Given the description of an element on the screen output the (x, y) to click on. 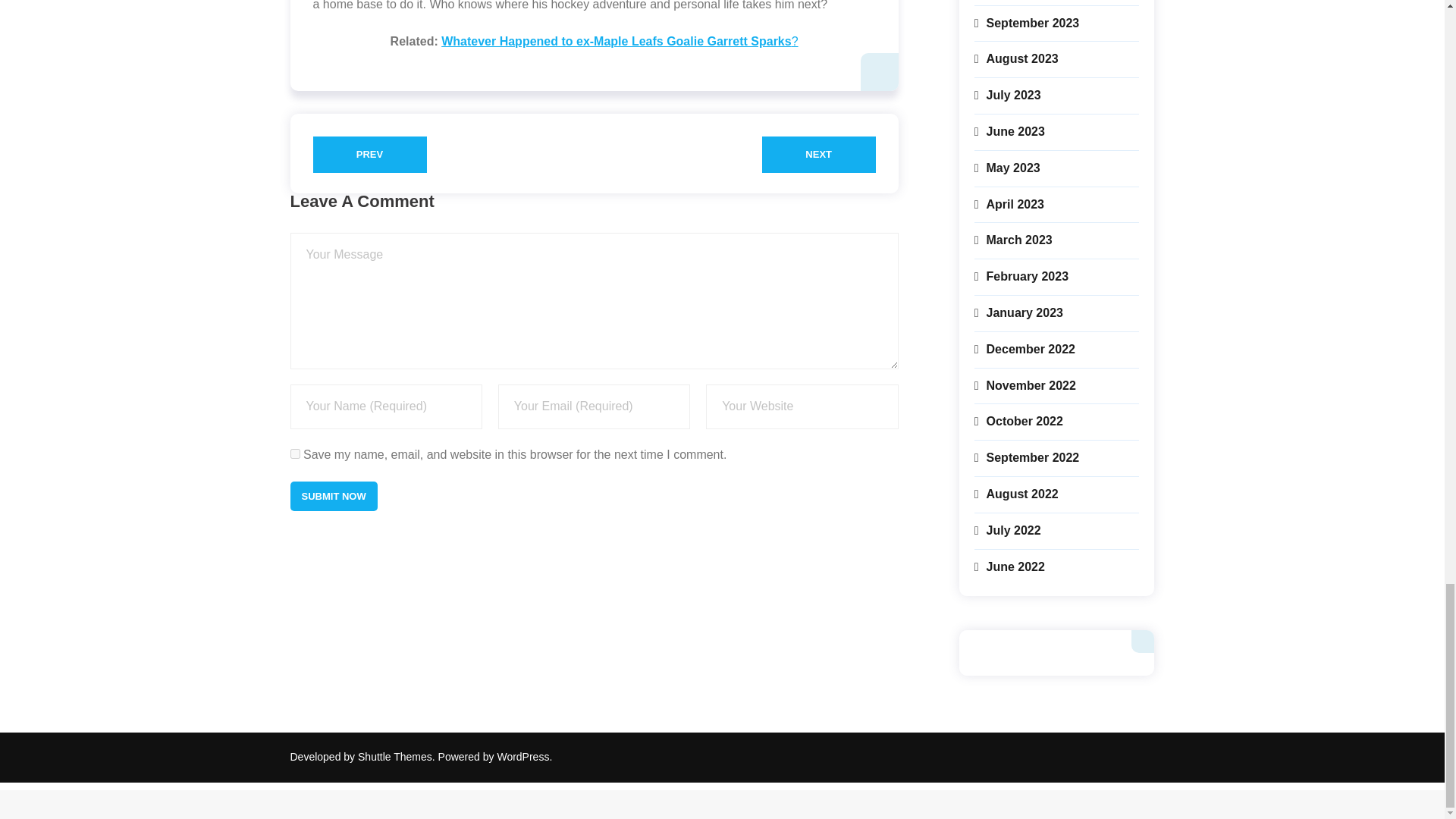
Submit Now (333, 495)
yes (294, 453)
NEXT (818, 154)
Whatever Happened to ex-Maple Leafs Goalie Garrett Sparks? (619, 41)
Submit Now (333, 495)
PREV (369, 154)
